Given the description of an element on the screen output the (x, y) to click on. 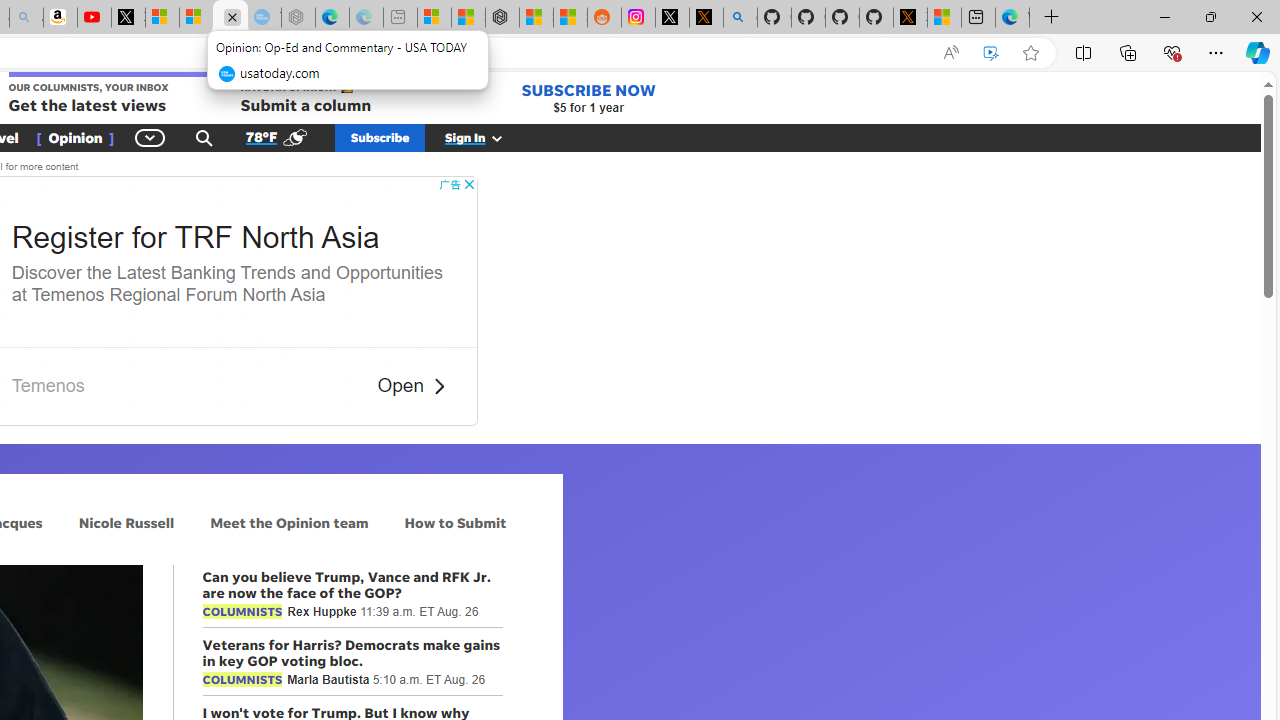
Restore (1210, 16)
Register for TRF North Asia (195, 237)
How to Submit (455, 521)
Collections (1128, 52)
Class: gnt_n_se_a_svg (204, 137)
help.x.com | 524: A timeout occurred (706, 17)
Opinion: Op-Ed and Commentary - USA TODAY (230, 17)
Split screen (1083, 52)
Add this page to favorites (Ctrl+D) (1030, 53)
Subscribe (380, 137)
